Given the description of an element on the screen output the (x, y) to click on. 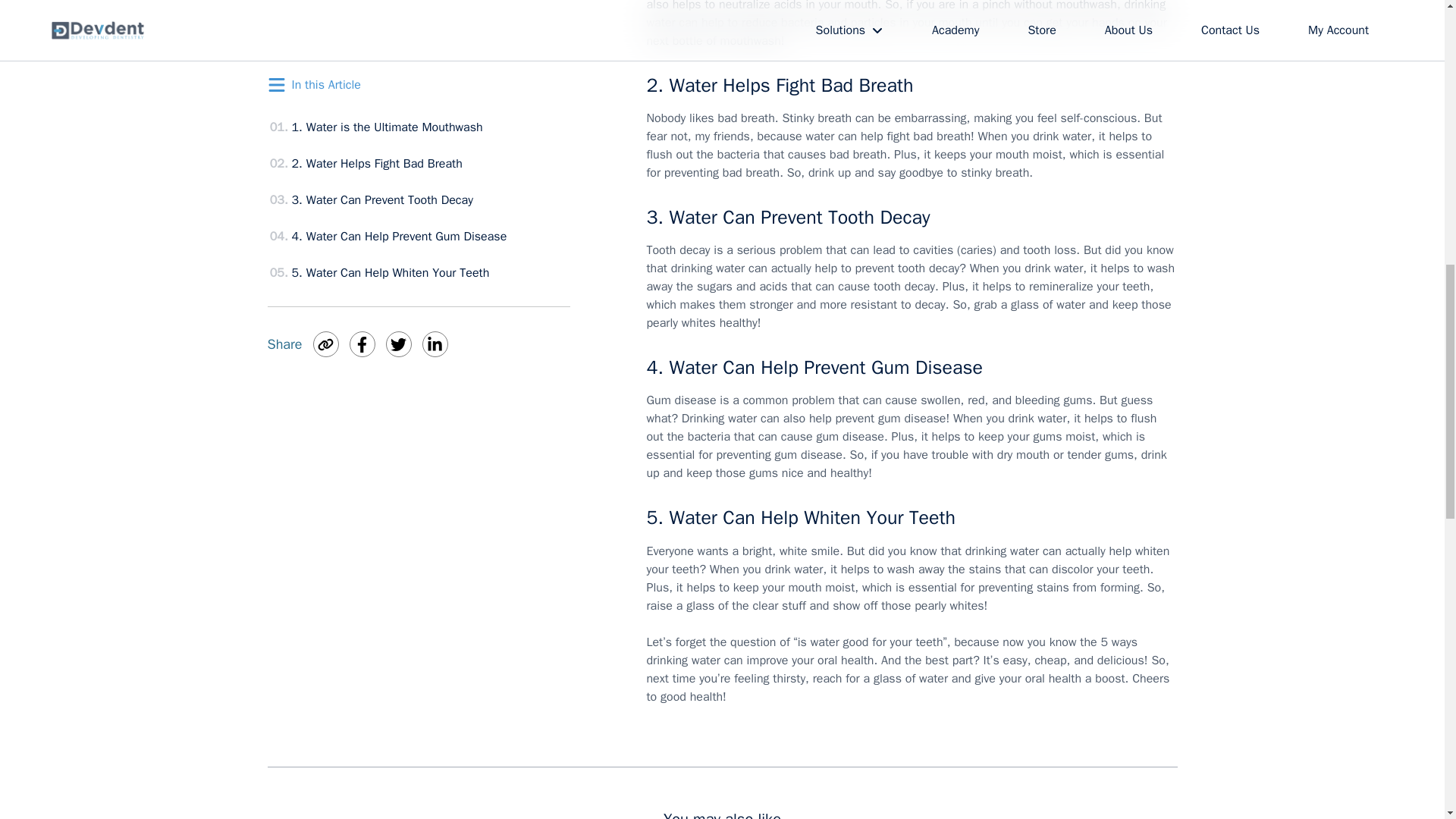
Share (283, 6)
